Given the description of an element on the screen output the (x, y) to click on. 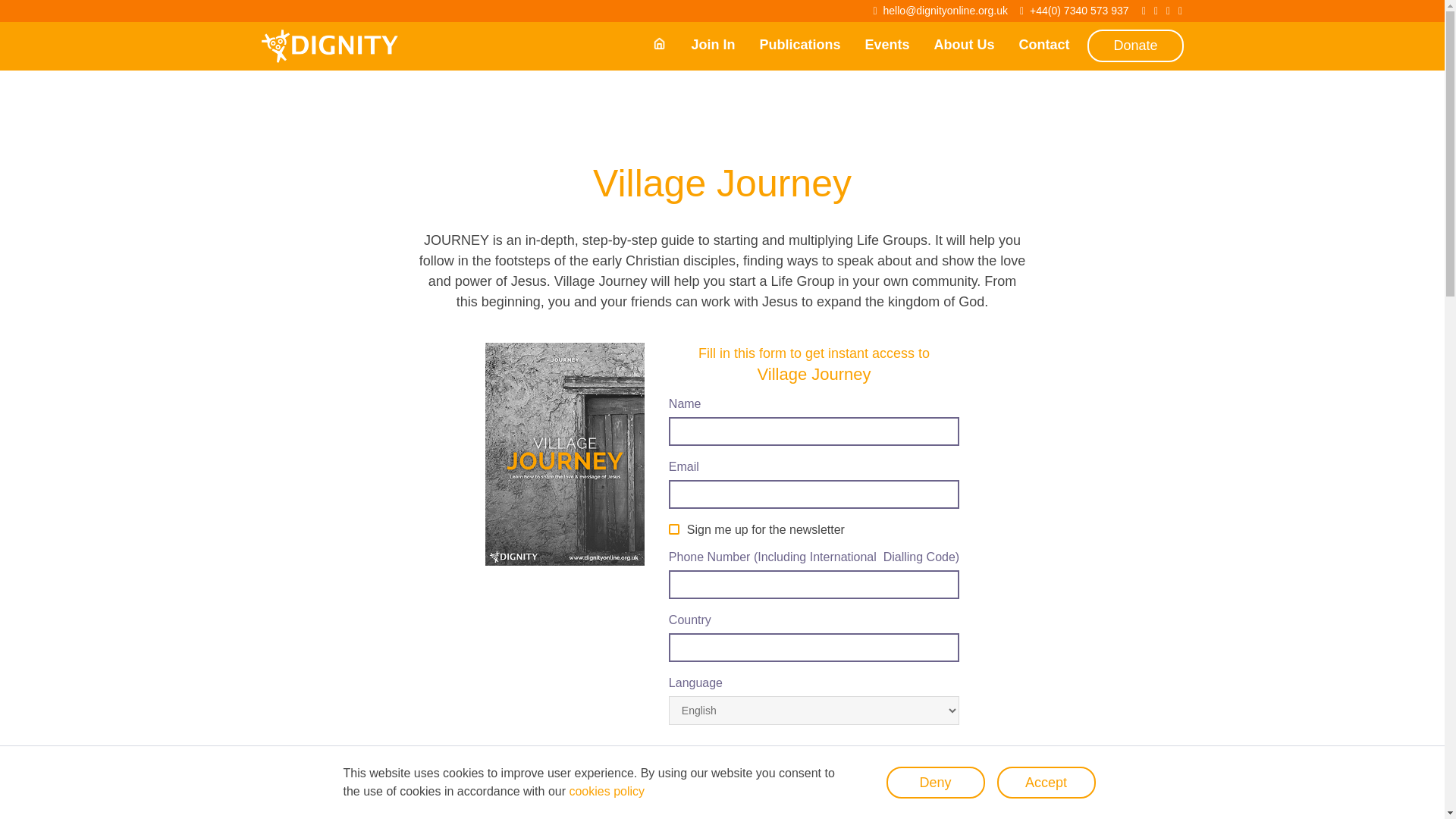
Donate (1134, 45)
Publications (798, 44)
Contact (1043, 44)
Instant Access (738, 766)
Events (887, 44)
Instant Access (738, 766)
